Given the description of an element on the screen output the (x, y) to click on. 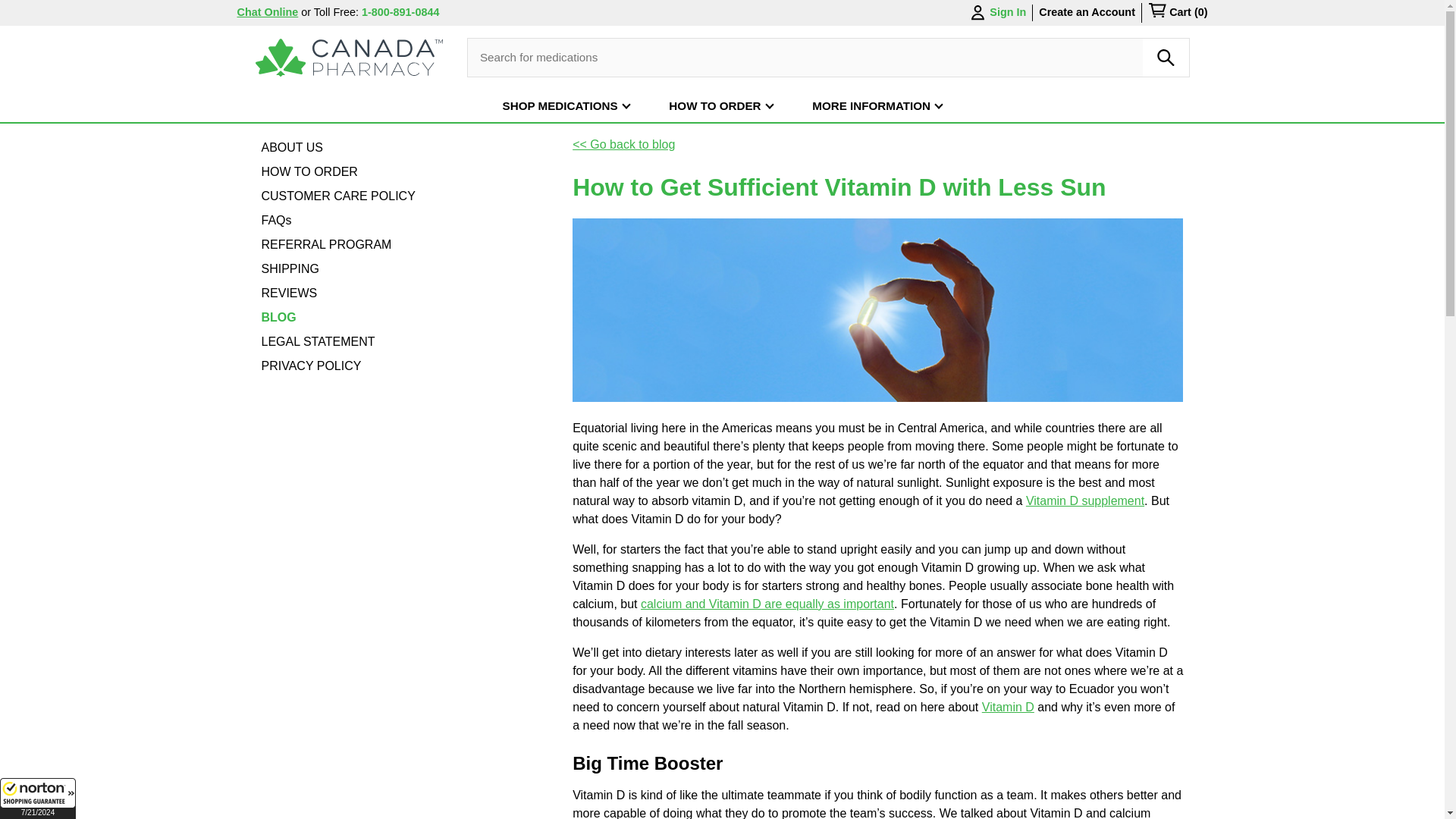
FAQs (275, 220)
PRIVACY POLICY (310, 366)
HOW TO ORDER (308, 171)
LEGAL STATEMENT (317, 341)
ABOUT US (291, 147)
REVIEWS (288, 293)
Sign In (997, 12)
Create an Account (1087, 11)
REFERRAL PROGRAM (325, 244)
Vitamin D (1007, 707)
Vitamin D supplement (1085, 500)
CUSTOMER CARE POLICY (337, 196)
BLOG (277, 317)
calcium and Vitamin D are equally as important (766, 603)
Toll Free: 1-800-891-0844 (376, 11)
